Given the description of an element on the screen output the (x, y) to click on. 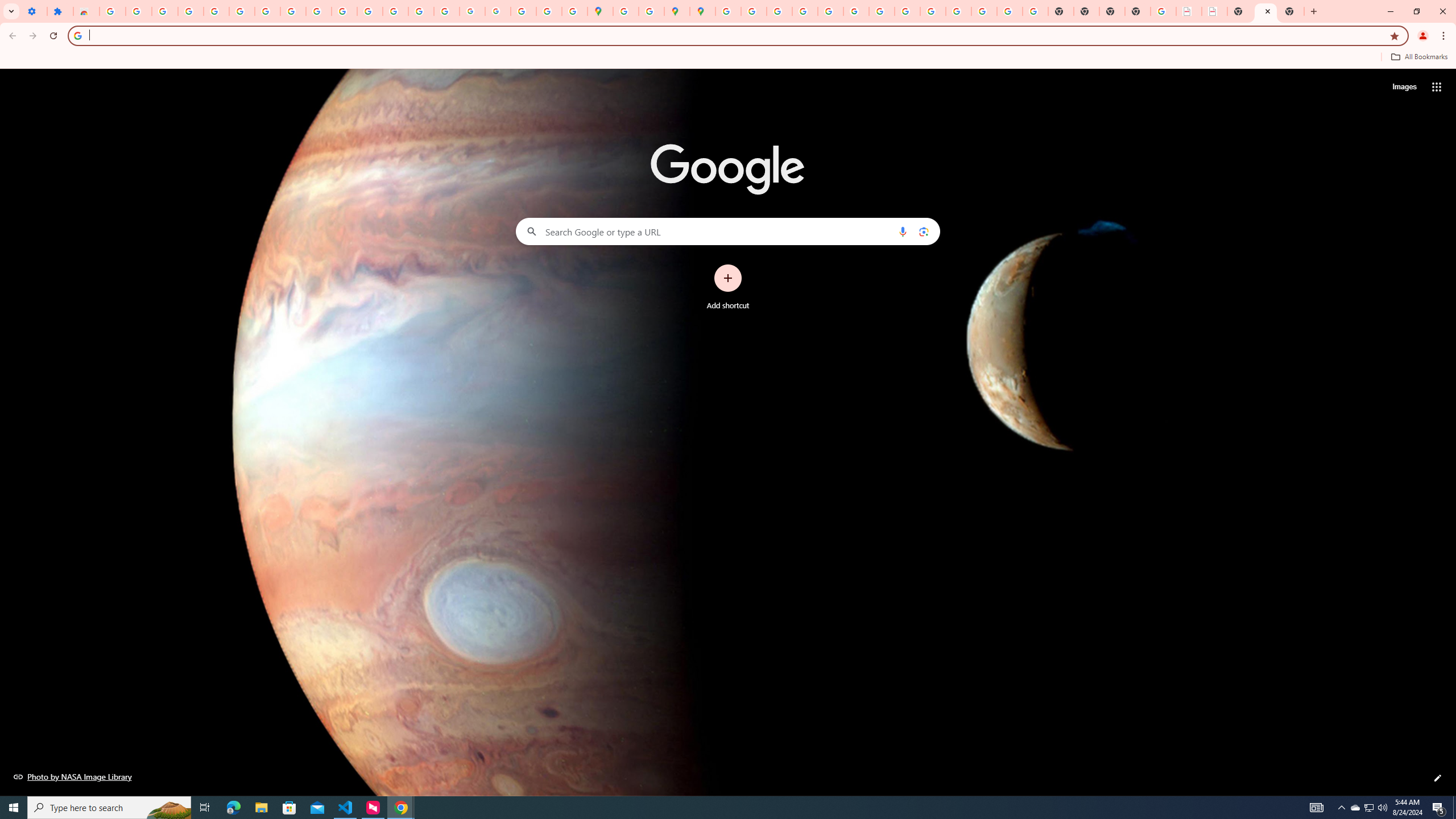
Safety in Our Products - Google Safety Center (651, 11)
Add shortcut (727, 287)
Search Google or type a URL (727, 230)
Sign in - Google Accounts (727, 11)
Extensions (60, 11)
